Given the description of an element on the screen output the (x, y) to click on. 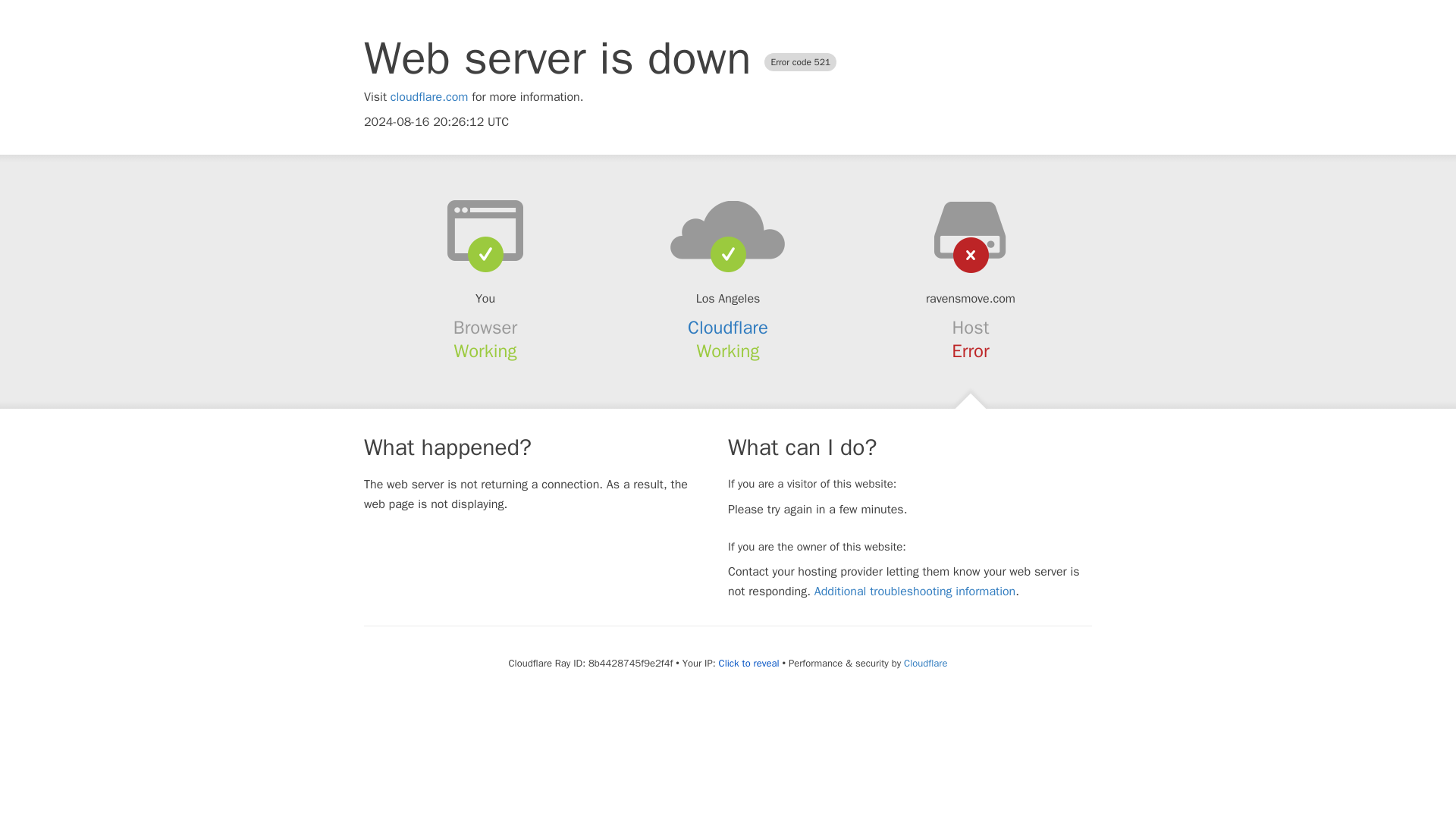
Cloudflare (727, 327)
cloudflare.com (429, 96)
Additional troubleshooting information (913, 590)
Click to reveal (748, 663)
Cloudflare (925, 662)
